Given the description of an element on the screen output the (x, y) to click on. 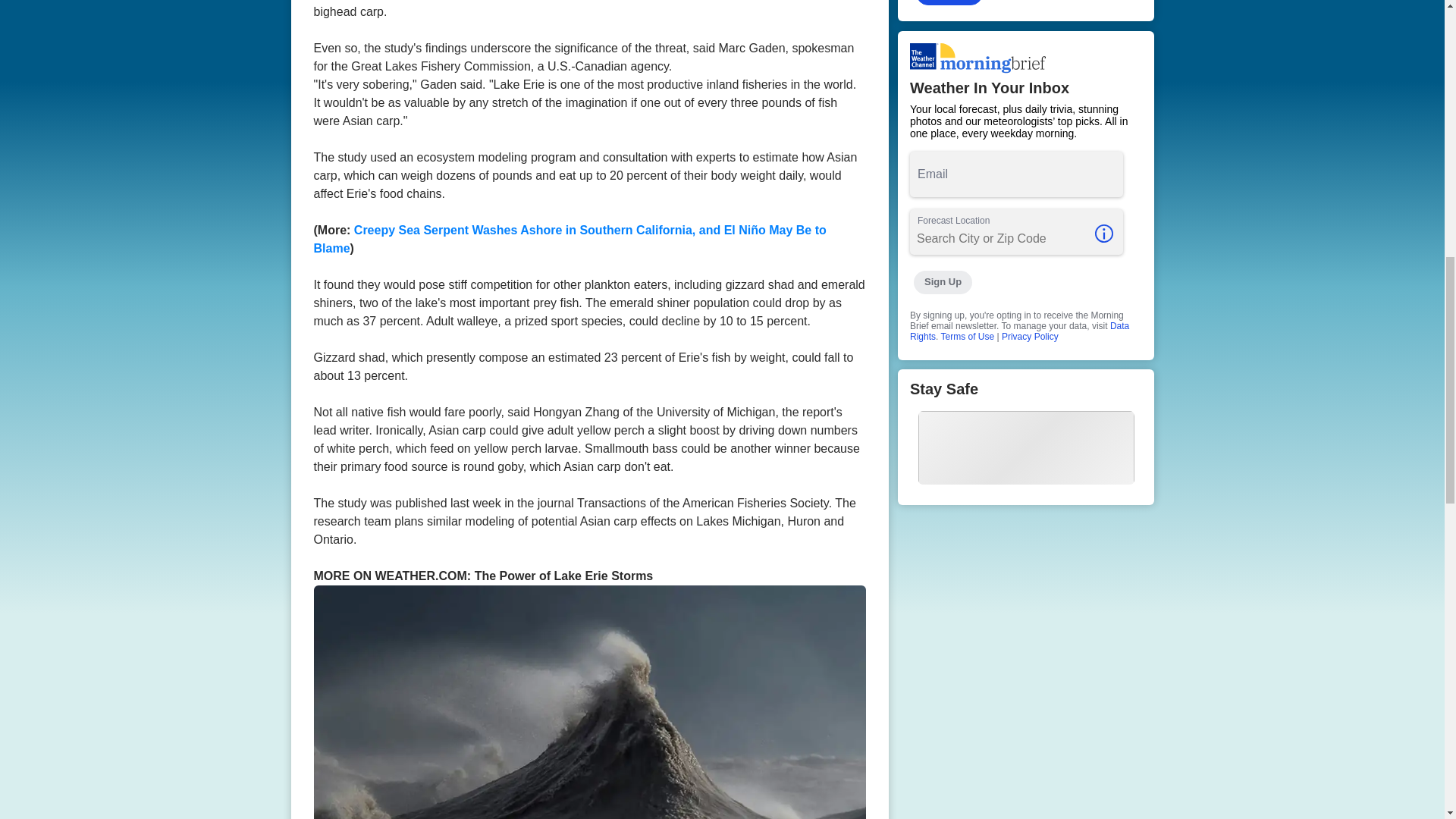
Our World (1026, 10)
Sign Up (941, 282)
See More (948, 2)
Stay Safe (1026, 437)
